Given the description of an element on the screen output the (x, y) to click on. 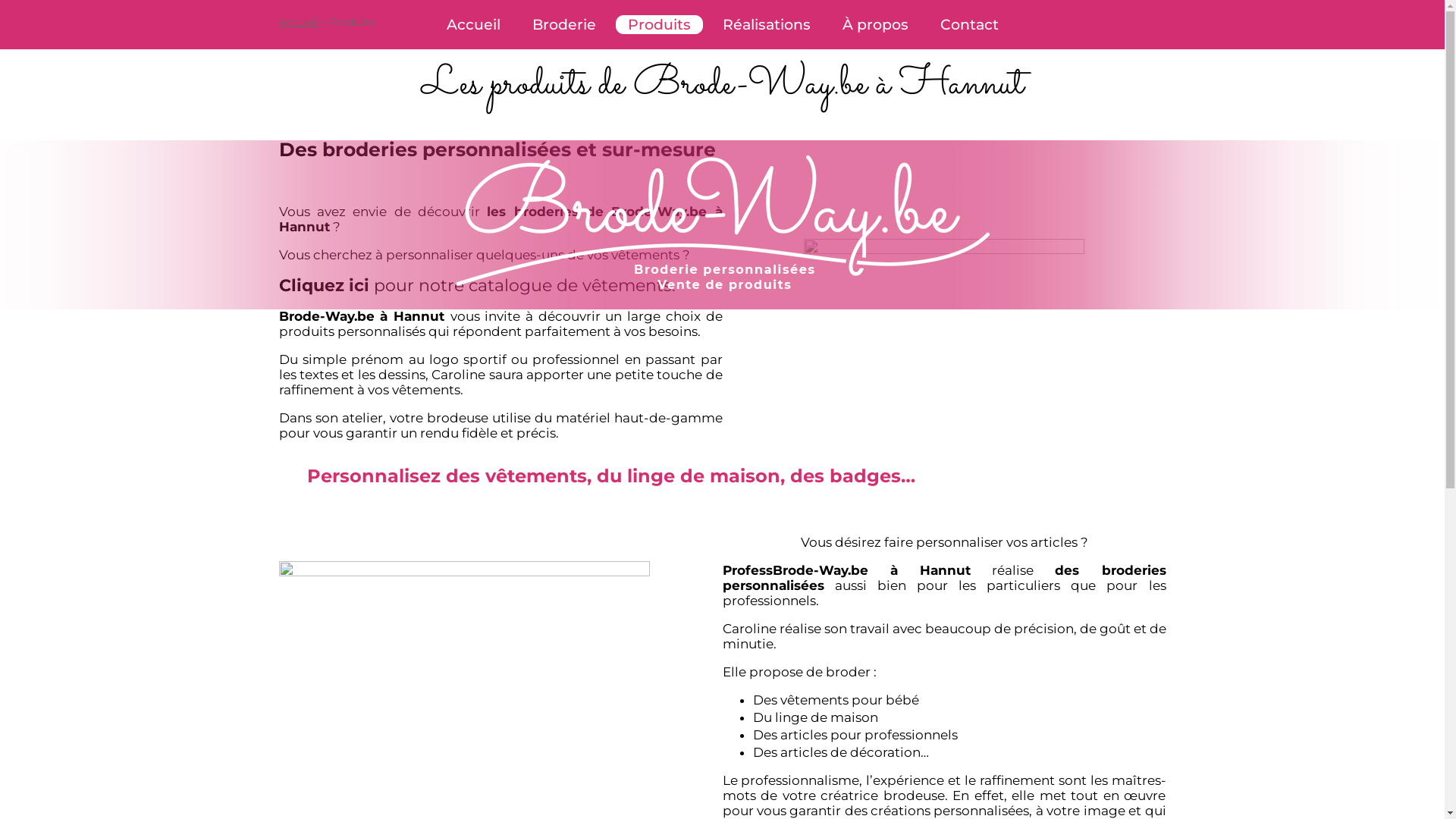
Broderie Element type: text (564, 24)
Contact Element type: text (969, 24)
Produits Element type: text (658, 24)
Cliquez ici Element type: text (324, 285)
Accueil Element type: text (472, 24)
Brode Way Element type: hover (722, 224)
Accueil Element type: text (299, 21)
